Given the description of an element on the screen output the (x, y) to click on. 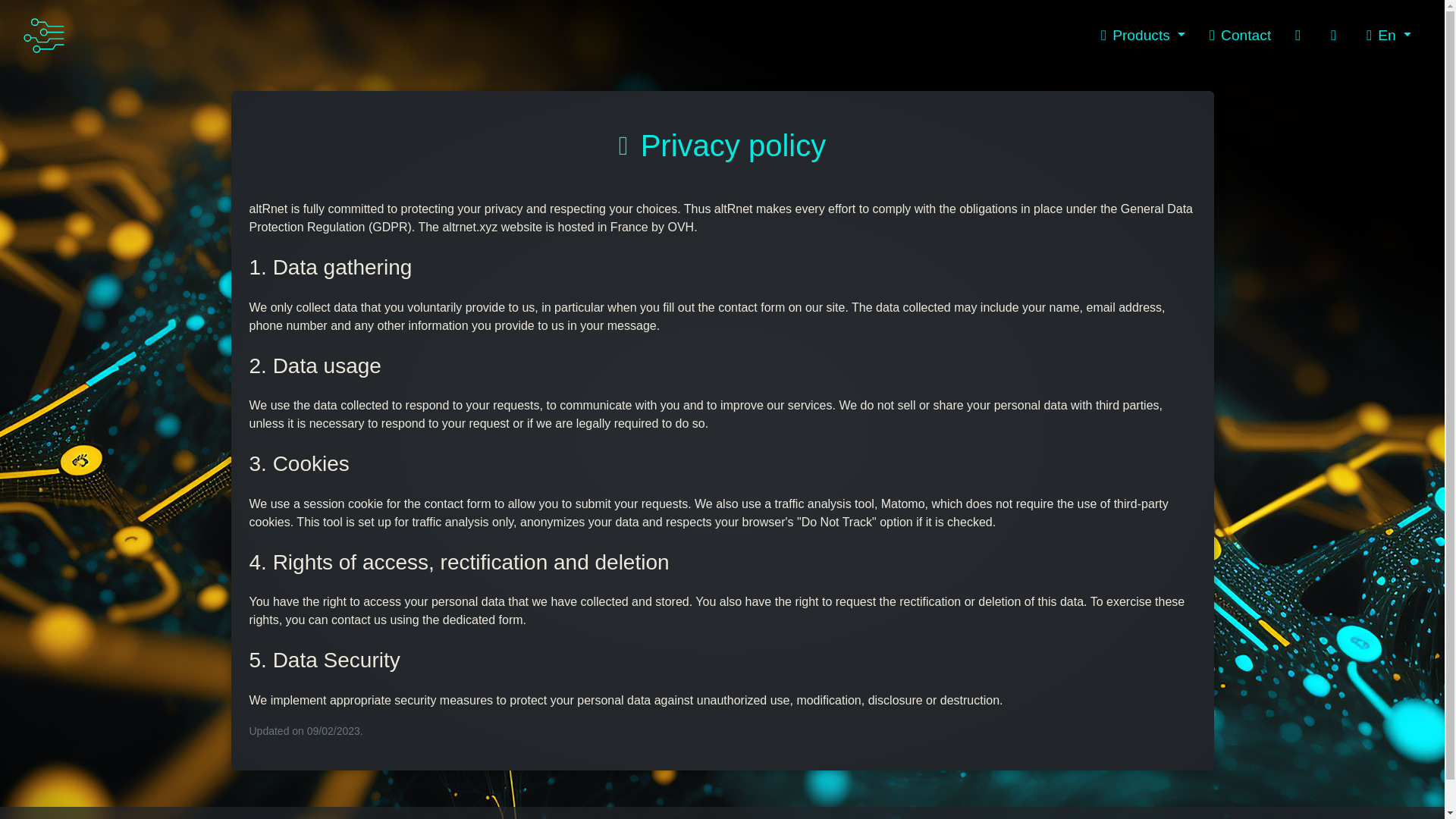
En (1387, 35)
Products (1142, 35)
Home (43, 35)
Contact (1240, 35)
